Given the description of an element on the screen output the (x, y) to click on. 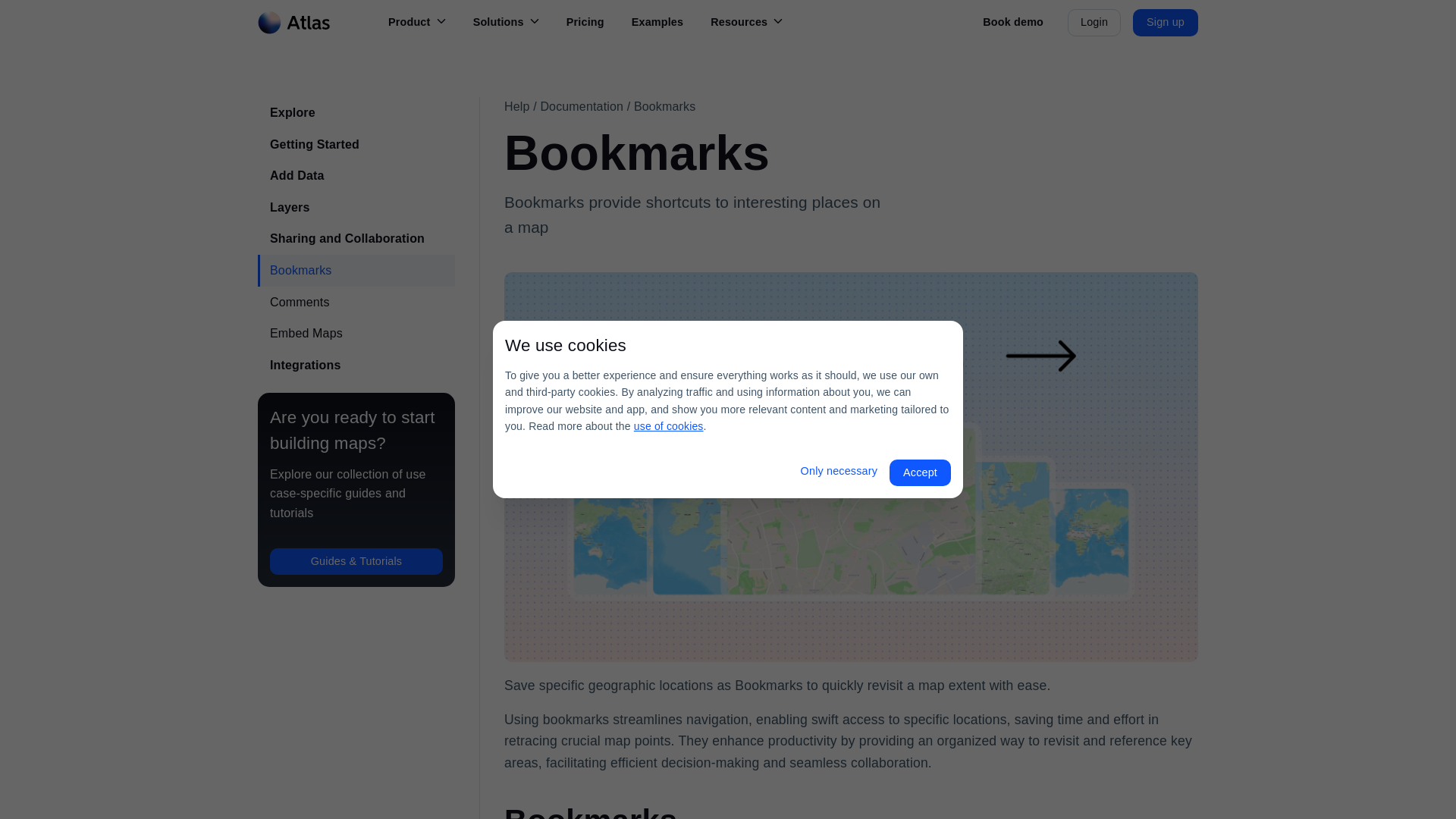
Bookmarks (664, 106)
Comments (355, 302)
Help (516, 106)
Layers (355, 207)
Embed Maps (355, 333)
Solutions (506, 23)
Resources (746, 23)
Explore (355, 112)
Book demo (1013, 23)
Integrations (355, 365)
Login (1094, 22)
Documentation (581, 106)
Bookmarks (355, 270)
Pricing (584, 23)
Add Data (355, 175)
